Given the description of an element on the screen output the (x, y) to click on. 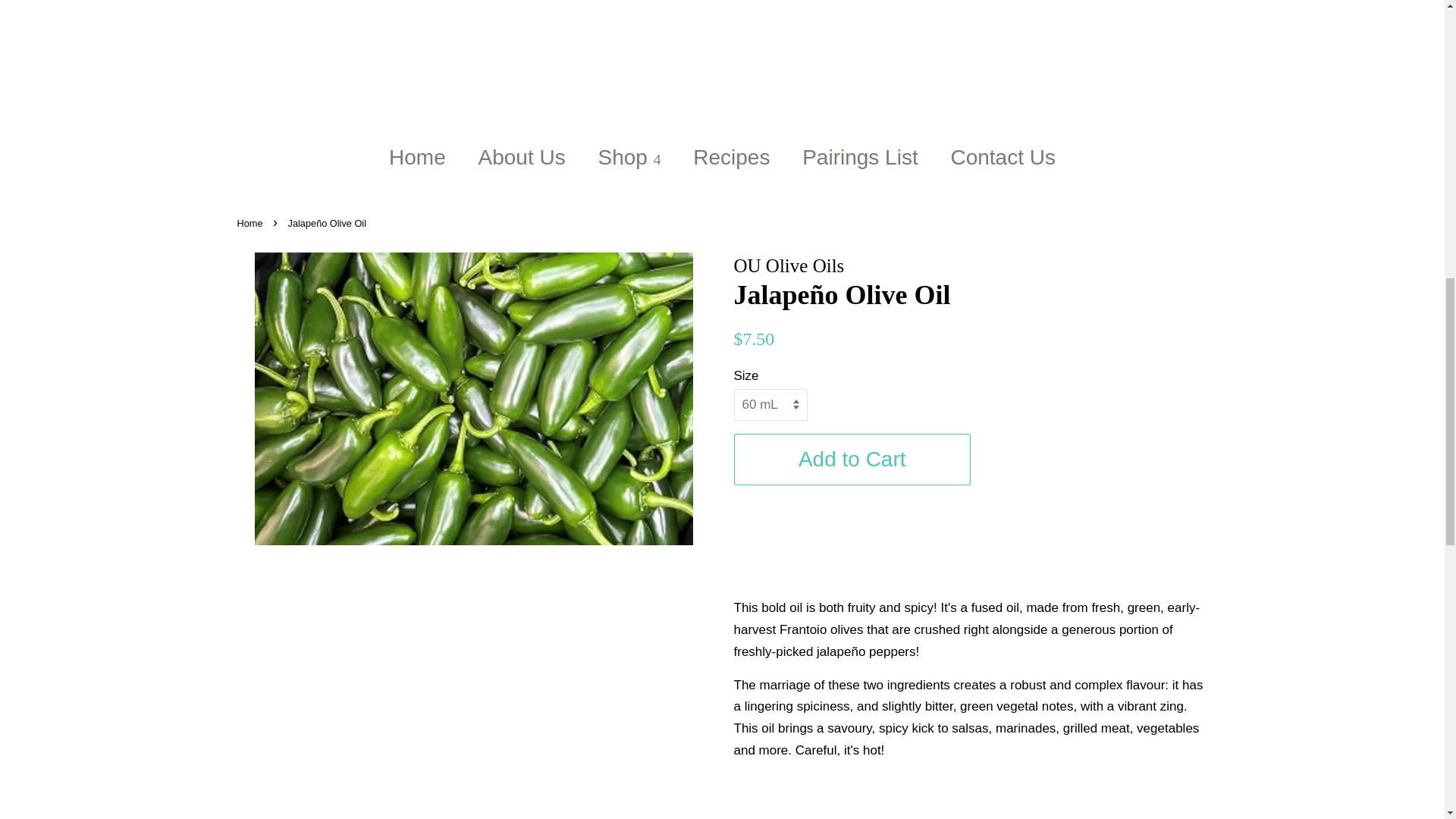
Shop (630, 157)
Pairings List (861, 157)
Recipes (732, 157)
Back to the frontpage (250, 223)
Home (424, 157)
About Us (523, 157)
